Given the description of an element on the screen output the (x, y) to click on. 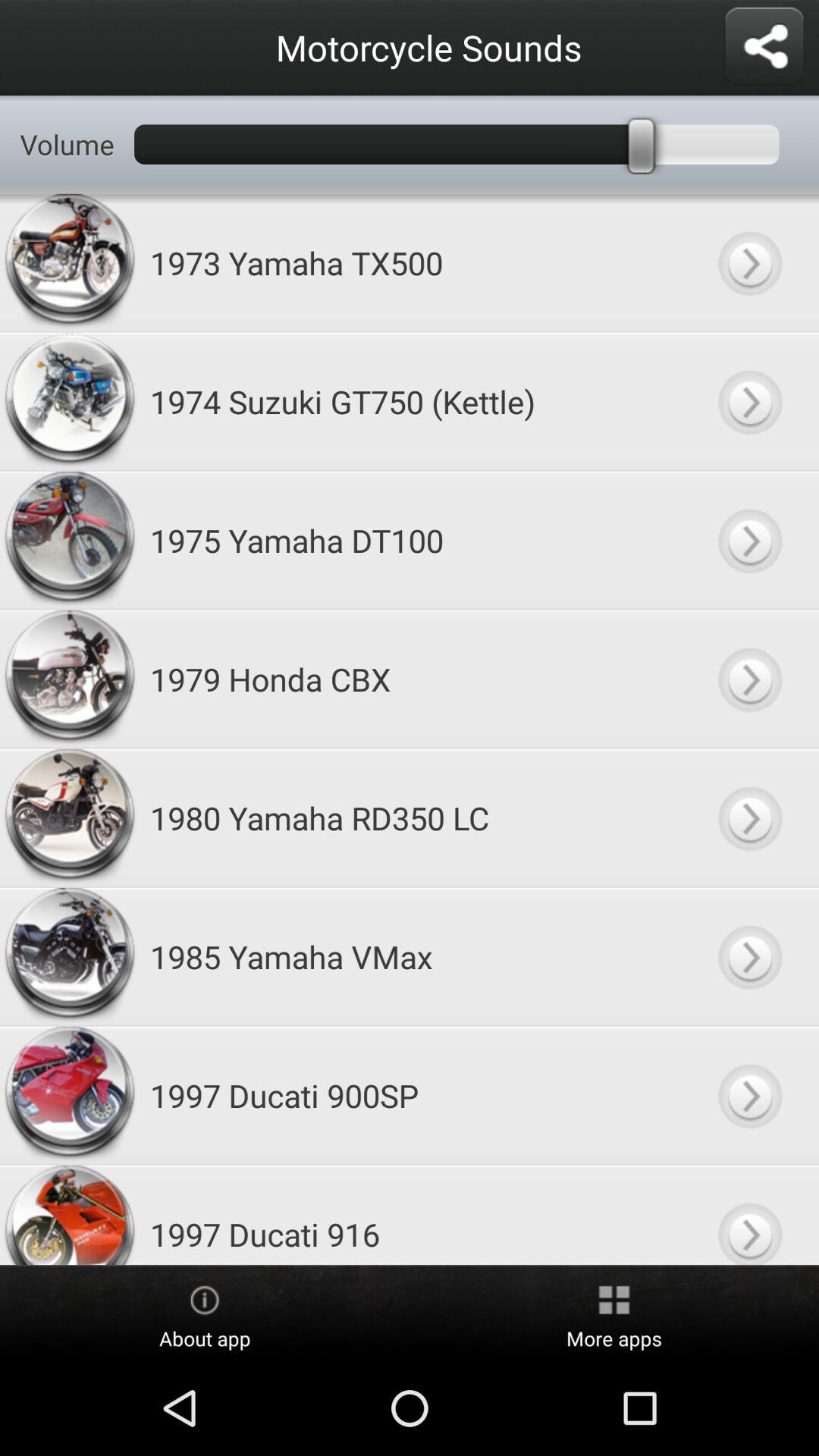
go and search (749, 818)
